Given the description of an element on the screen output the (x, y) to click on. 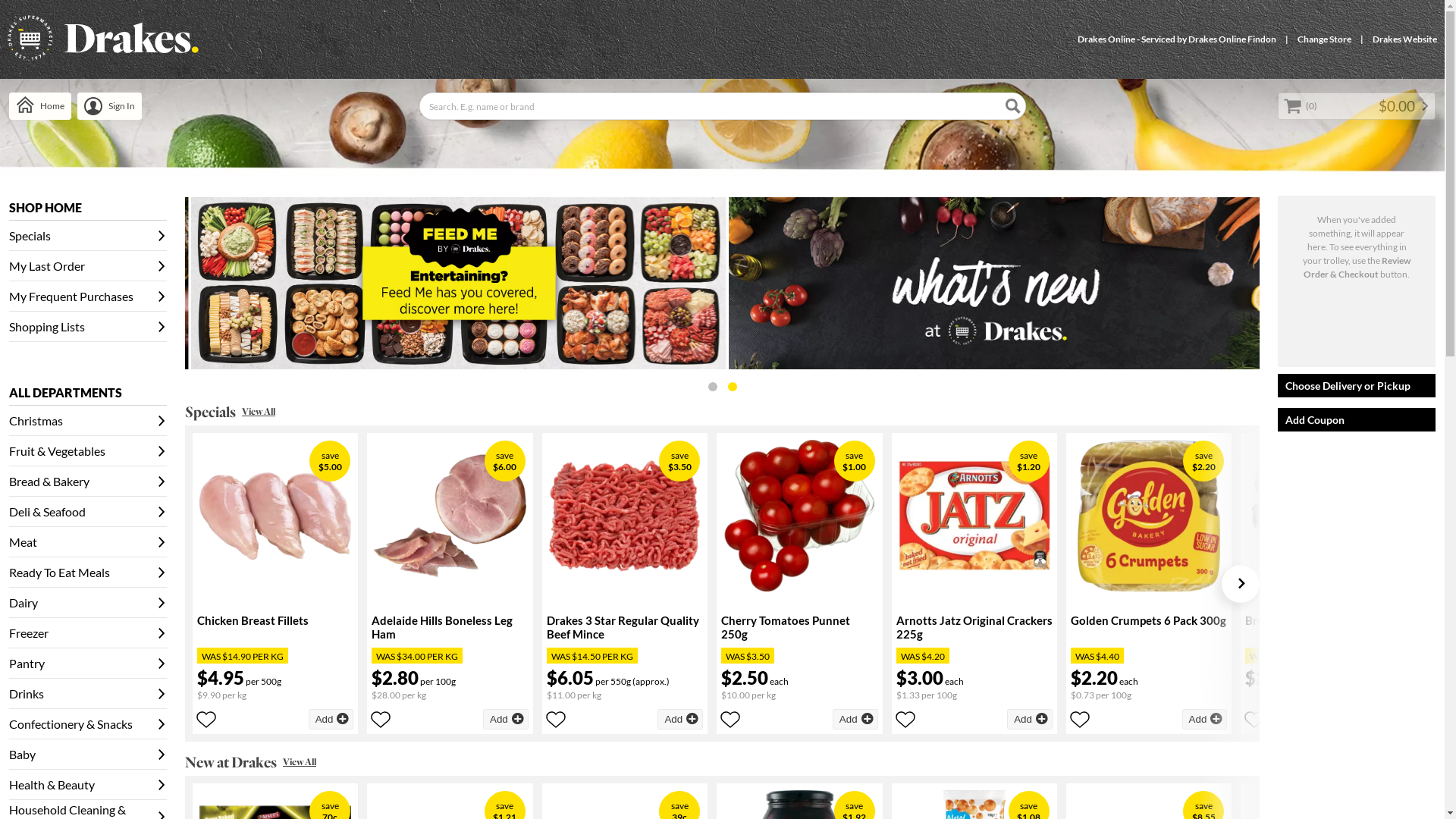
Drakes Website Element type: text (1404, 38)
My Frequent Purchases Element type: text (87, 296)
Add+ Element type: text (331, 719)
Choose Delivery or Pickup Element type: text (1356, 385)
Ready To Eat Meals Element type: text (87, 572)
My Last Order Element type: text (87, 266)
Baby Element type: text (87, 754)
Add+ Element type: text (855, 719)
Specials Element type: text (87, 235)
View All Element type: text (258, 411)
Add+ Element type: text (1379, 719)
(0)
$0.00 Element type: text (1356, 105)
Health & Beauty Element type: text (87, 784)
Bread & Bakery Element type: text (87, 481)
Add Coupon Element type: text (1356, 419)
Shopping Lists Element type: text (87, 326)
Drinks Element type: text (87, 693)
Add+ Element type: text (1204, 719)
Search Element type: hover (1013, 106)
Add+ Element type: text (679, 719)
Fruit & Vegetables Element type: text (87, 451)
Change Store Element type: text (1324, 38)
Meat Element type: text (87, 542)
Dairy Element type: text (87, 602)
Sign In Element type: text (109, 105)
Pantry Element type: text (87, 663)
Add+ Element type: text (1029, 719)
View All Element type: text (299, 761)
Add+ Element type: text (505, 719)
Deli & Seafood Element type: text (87, 511)
Home Element type: text (40, 105)
Confectionery & Snacks Element type: text (87, 724)
Christmas Element type: text (87, 420)
Freezer Element type: text (87, 633)
